Given the description of an element on the screen output the (x, y) to click on. 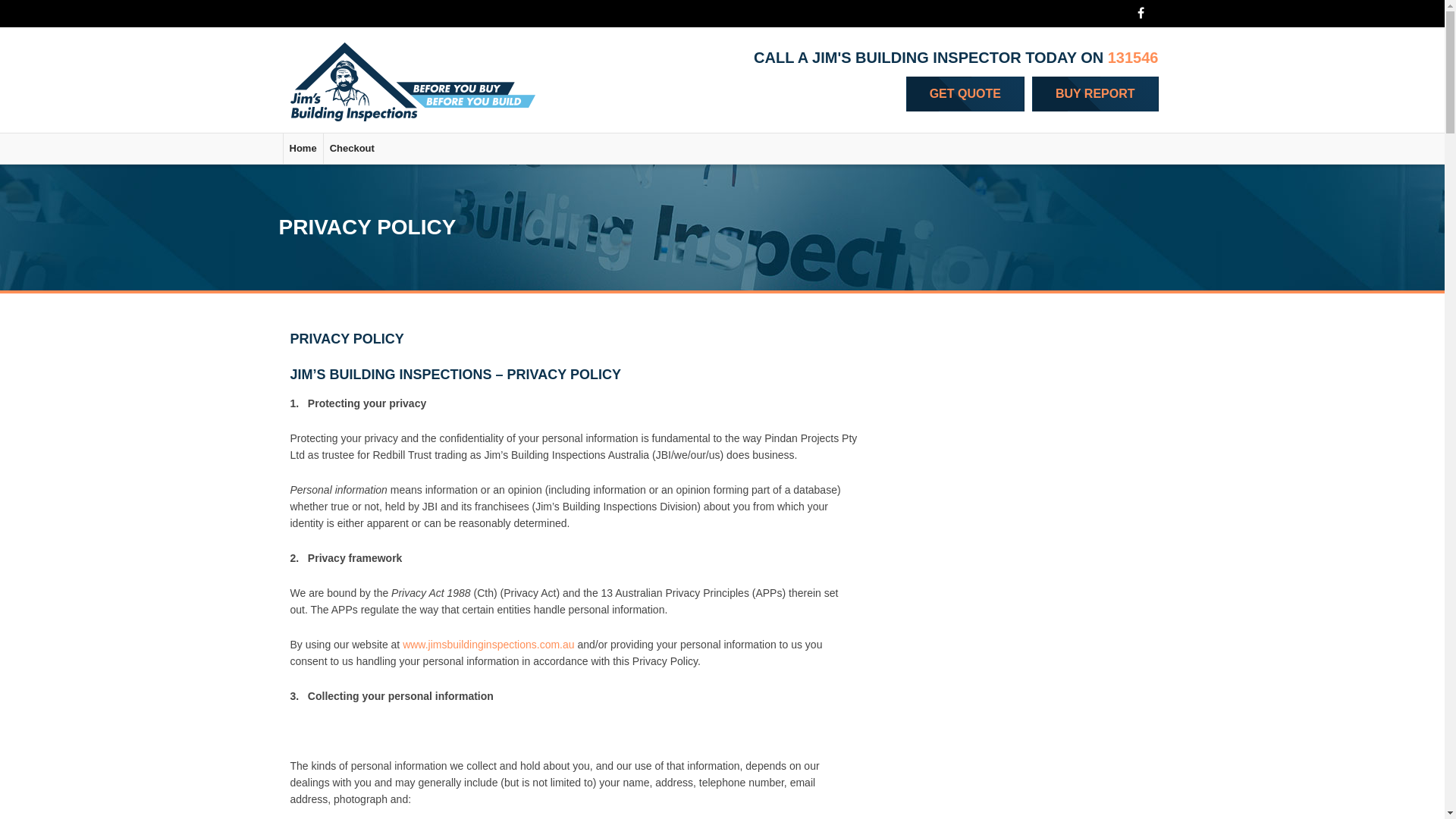
www.jimsbuildinginspections.com.au Element type: text (488, 644)
BUY REPORT Element type: text (1095, 93)
Checkout Element type: text (351, 148)
Home Element type: text (303, 148)
131546 Element type: text (1132, 57)
GET QUOTE Element type: text (965, 93)
